Given the description of an element on the screen output the (x, y) to click on. 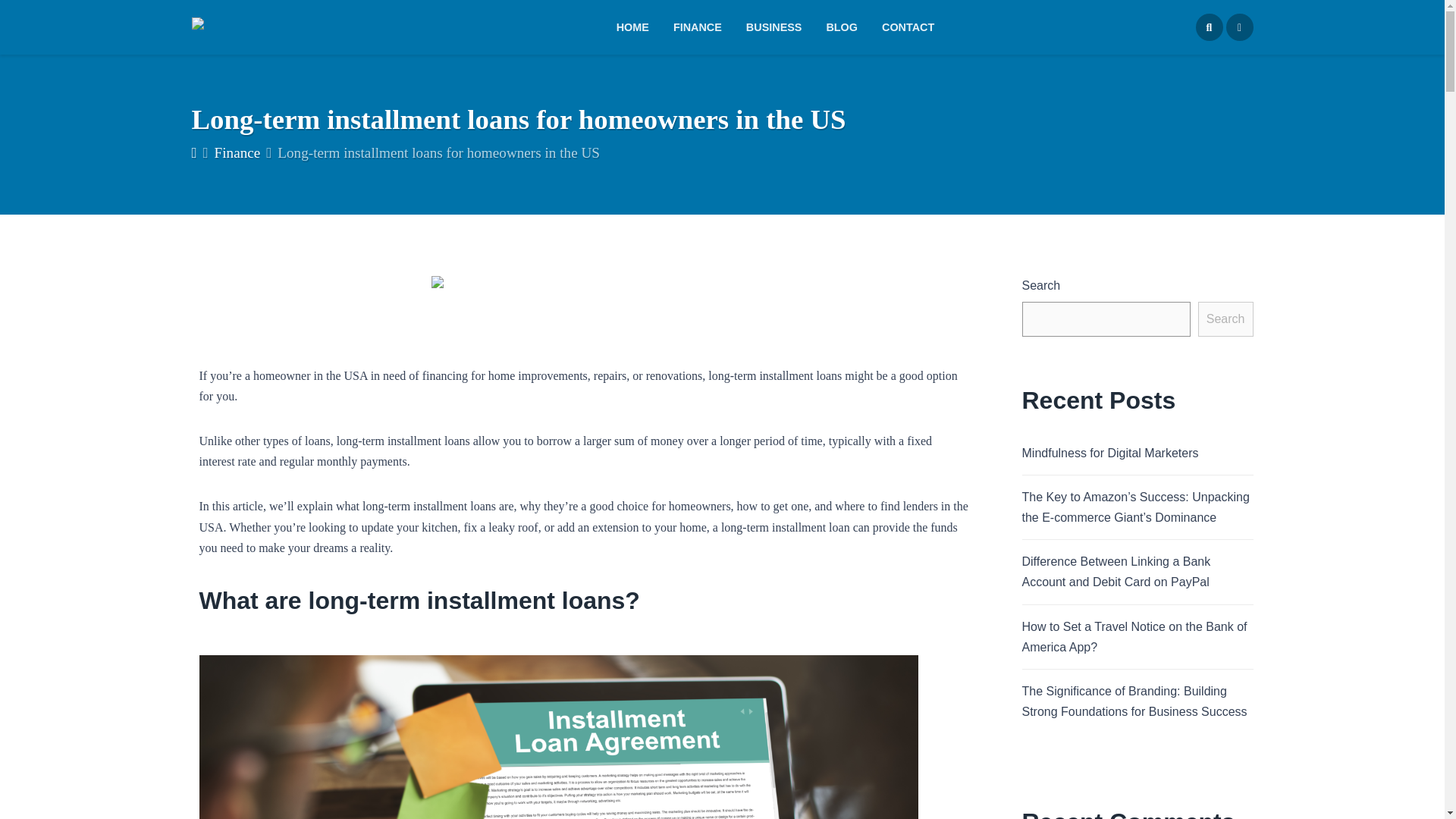
FINANCE (697, 27)
BUSINESS (773, 27)
CONTACT (901, 27)
Finance (237, 152)
BLOG (841, 27)
